Given the description of an element on the screen output the (x, y) to click on. 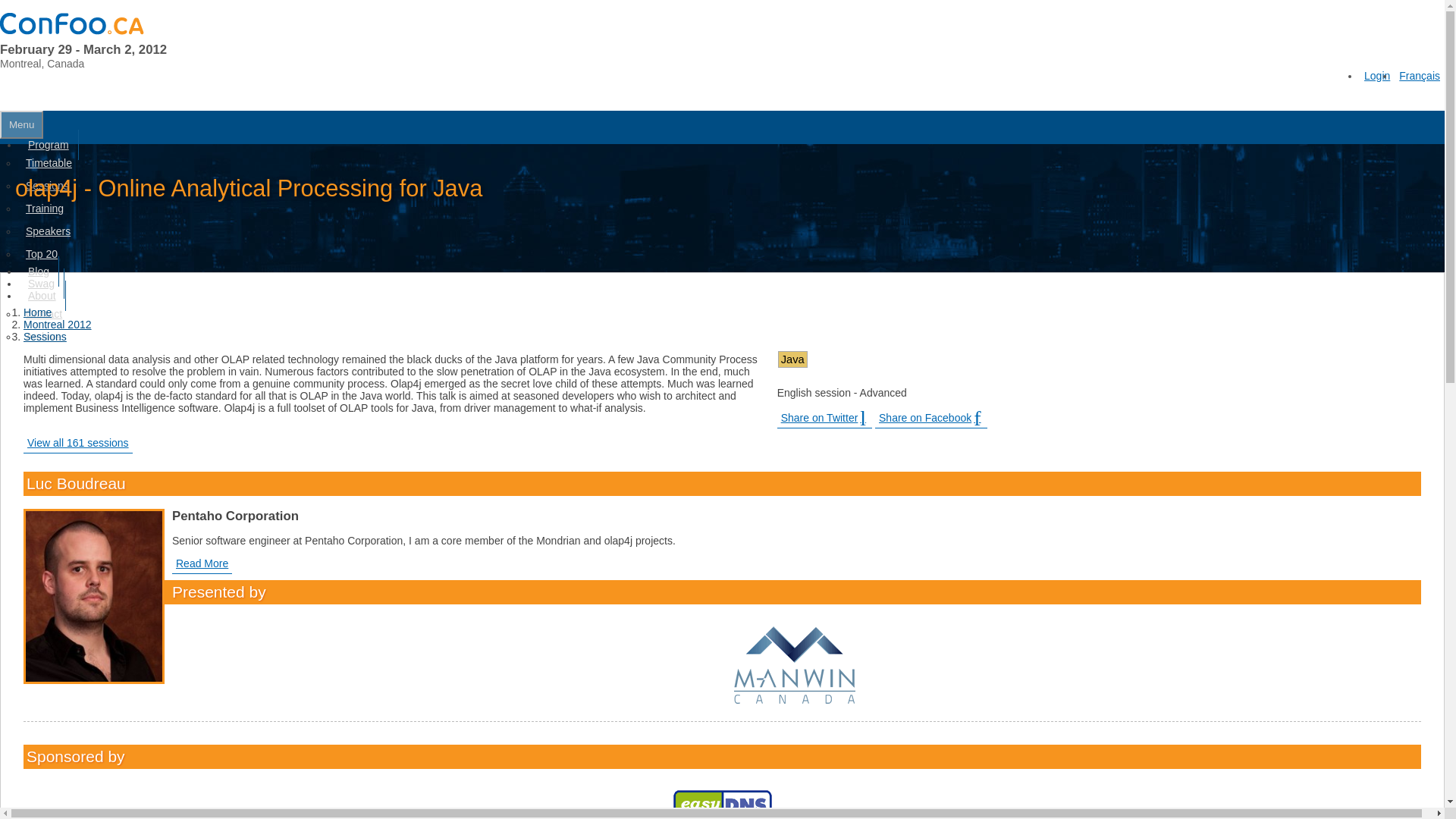
Blog (38, 271)
Speakers (43, 231)
Montreal 2012 (57, 324)
Share on Facebook (931, 417)
View all 161 sessions (77, 443)
Sessions (44, 336)
Home (36, 312)
Read More (201, 563)
Login (1376, 75)
About (41, 295)
Menu (21, 124)
Sessions (42, 185)
Training (40, 208)
Share on Twitter (824, 417)
Program (48, 144)
